Given the description of an element on the screen output the (x, y) to click on. 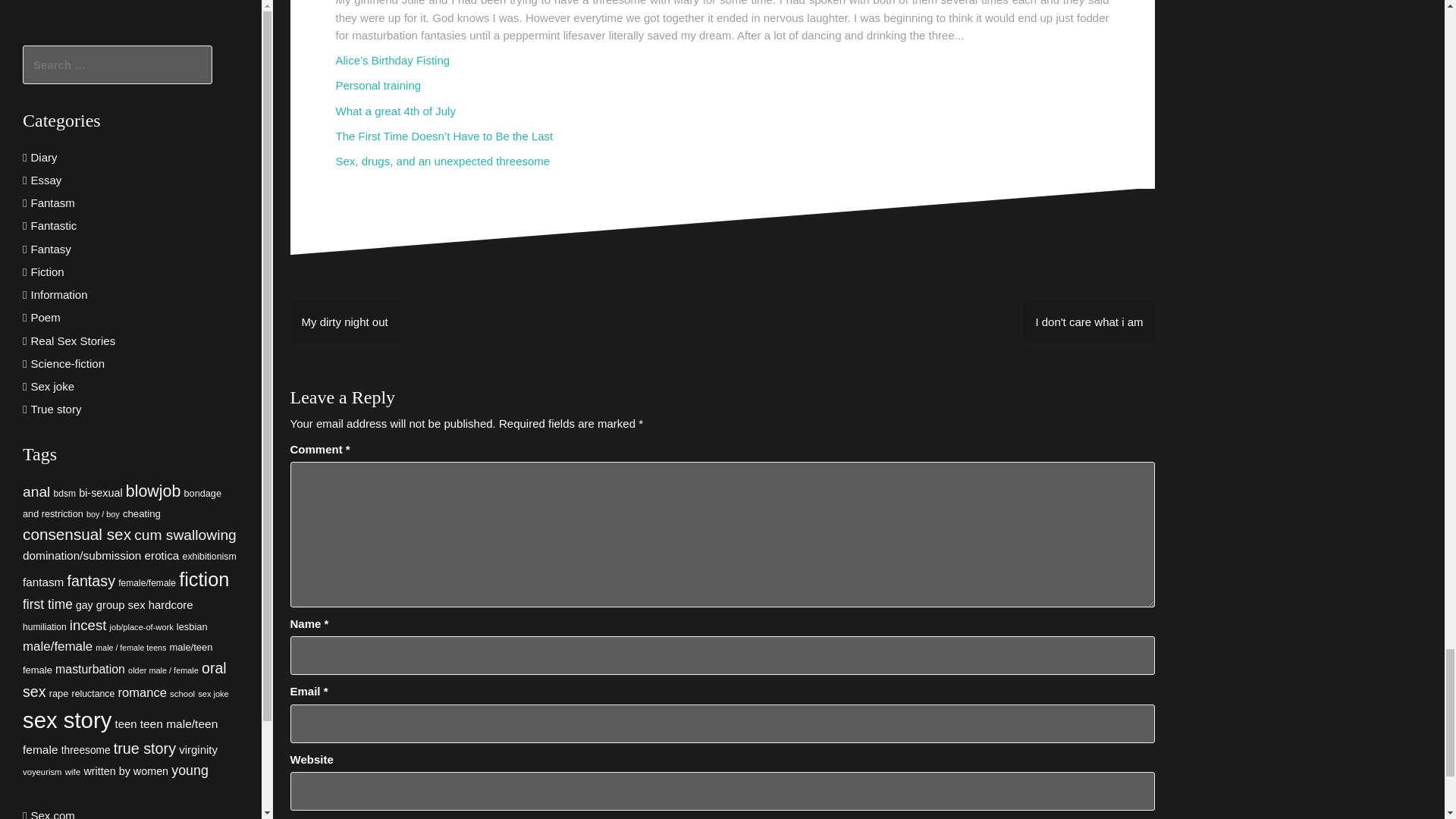
What a great 4th of July (394, 110)
Sex, drugs, and an unexpected threesome (442, 160)
Personal training (377, 84)
My dirty night out (344, 321)
I don't care what i am (1088, 321)
